Given the description of an element on the screen output the (x, y) to click on. 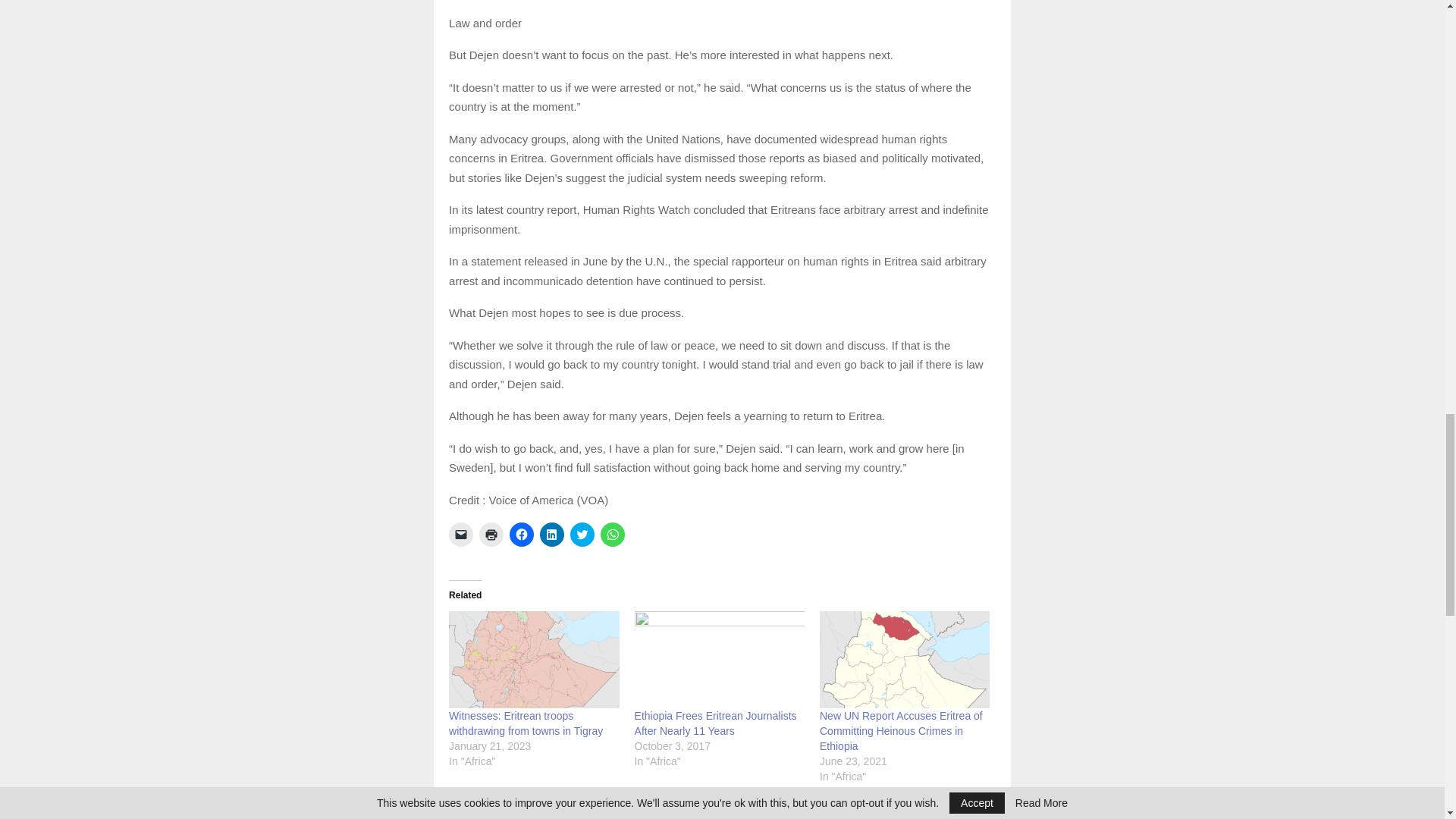
Click to share on Facebook (521, 534)
Click to email a link to a friend (460, 534)
Click to share on Twitter (582, 534)
Click to share on LinkedIn (552, 534)
Click to share on WhatsApp (611, 534)
Click to print (491, 534)
